Given the description of an element on the screen output the (x, y) to click on. 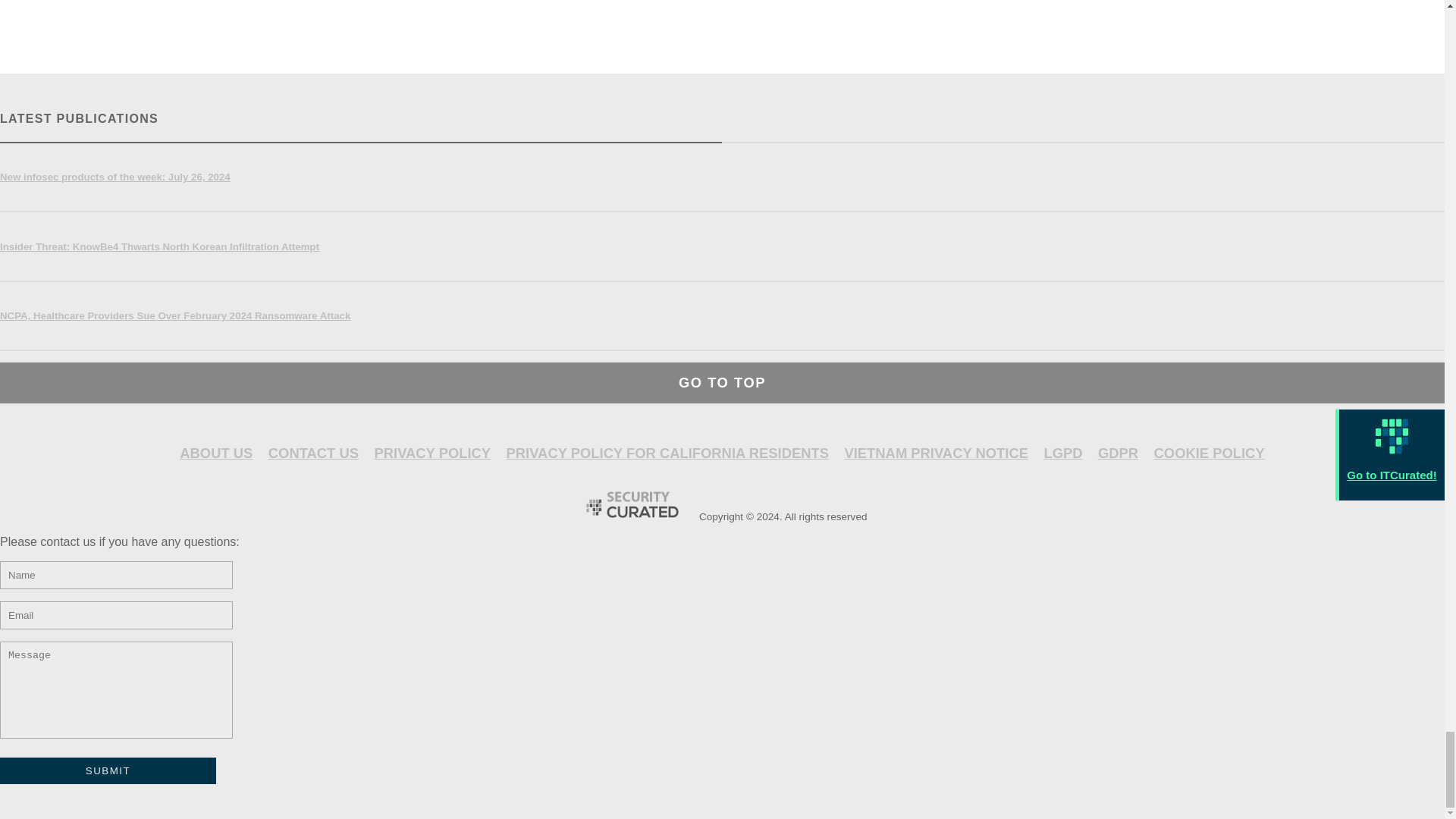
GO TO TOP (722, 382)
Submit (107, 770)
